Given the description of an element on the screen output the (x, y) to click on. 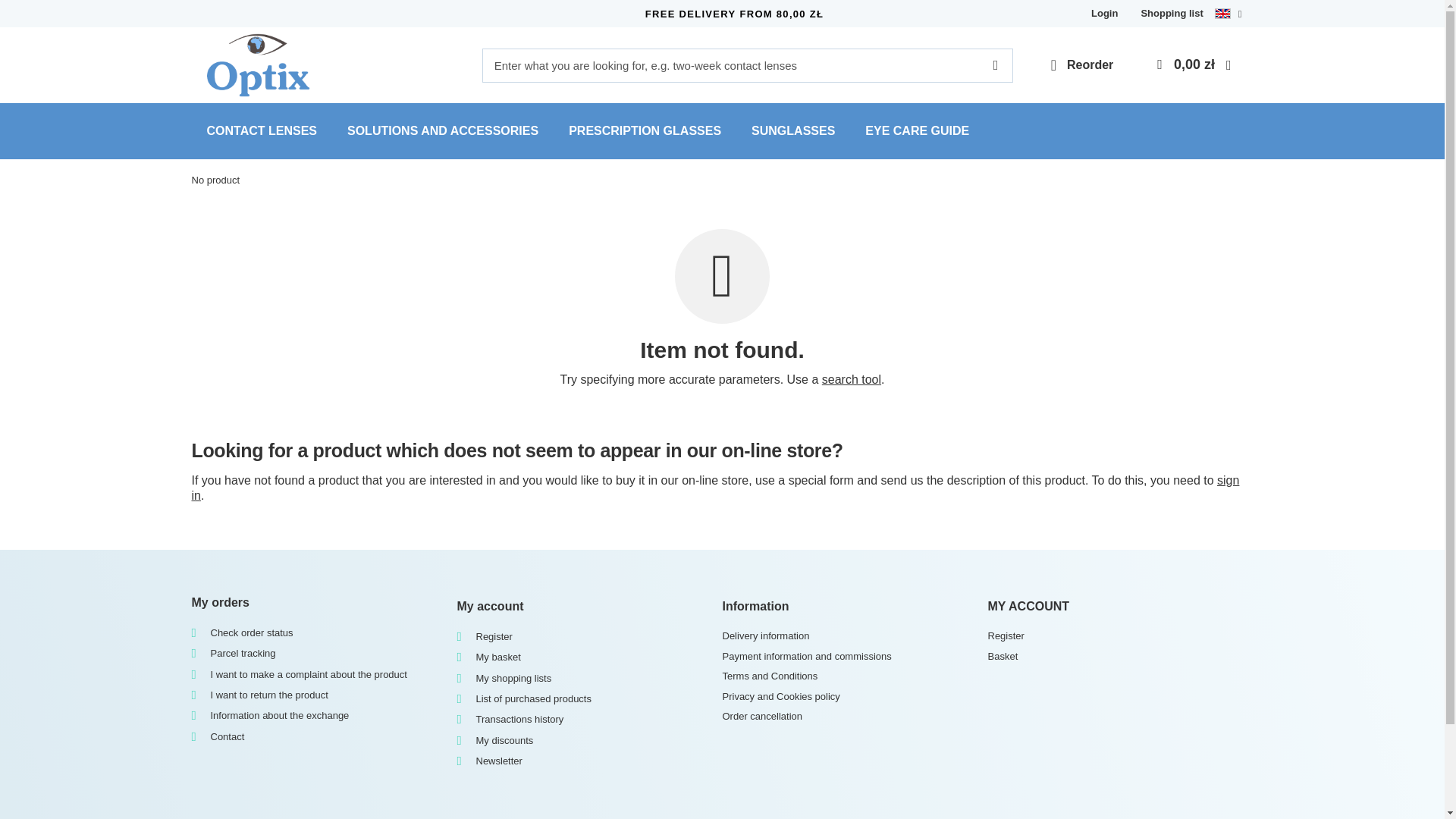
Login (1107, 13)
CONTACT LENSES (260, 130)
MY ACCOUNT (1119, 606)
Solutions and accessories (442, 130)
SUNGLASSES (793, 130)
Reorder (1082, 65)
SOLUTIONS AND ACCESSORIES (442, 130)
Register (1114, 635)
Basket (1114, 656)
Eye care guide (917, 130)
Click here to perform advanced search (851, 379)
PRESCRIPTION GLASSES (644, 130)
Sunglasses (793, 130)
Prescription glasses (644, 130)
Contact lenses (260, 130)
